Given the description of an element on the screen output the (x, y) to click on. 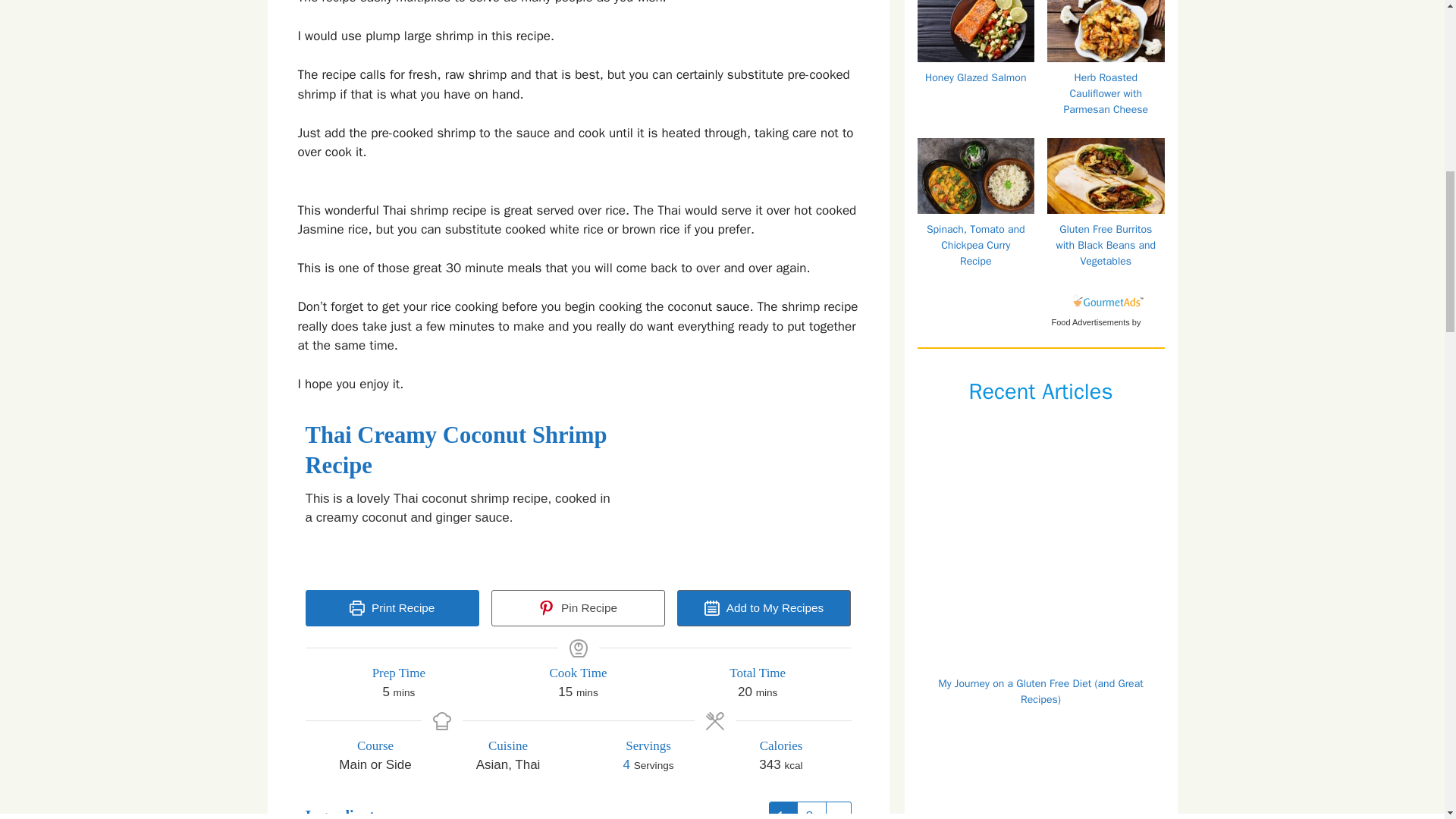
Gluten Free Burritos with Black Beans and Vegetables (1107, 209)
Herb Roasted Cauliflower with Parmesan Cheese (1107, 66)
Honey Glazed Salmon (978, 57)
Food Advertisements (1090, 321)
Spinach, Tomato and Chickpea Curry Recipe (978, 215)
